Given the description of an element on the screen output the (x, y) to click on. 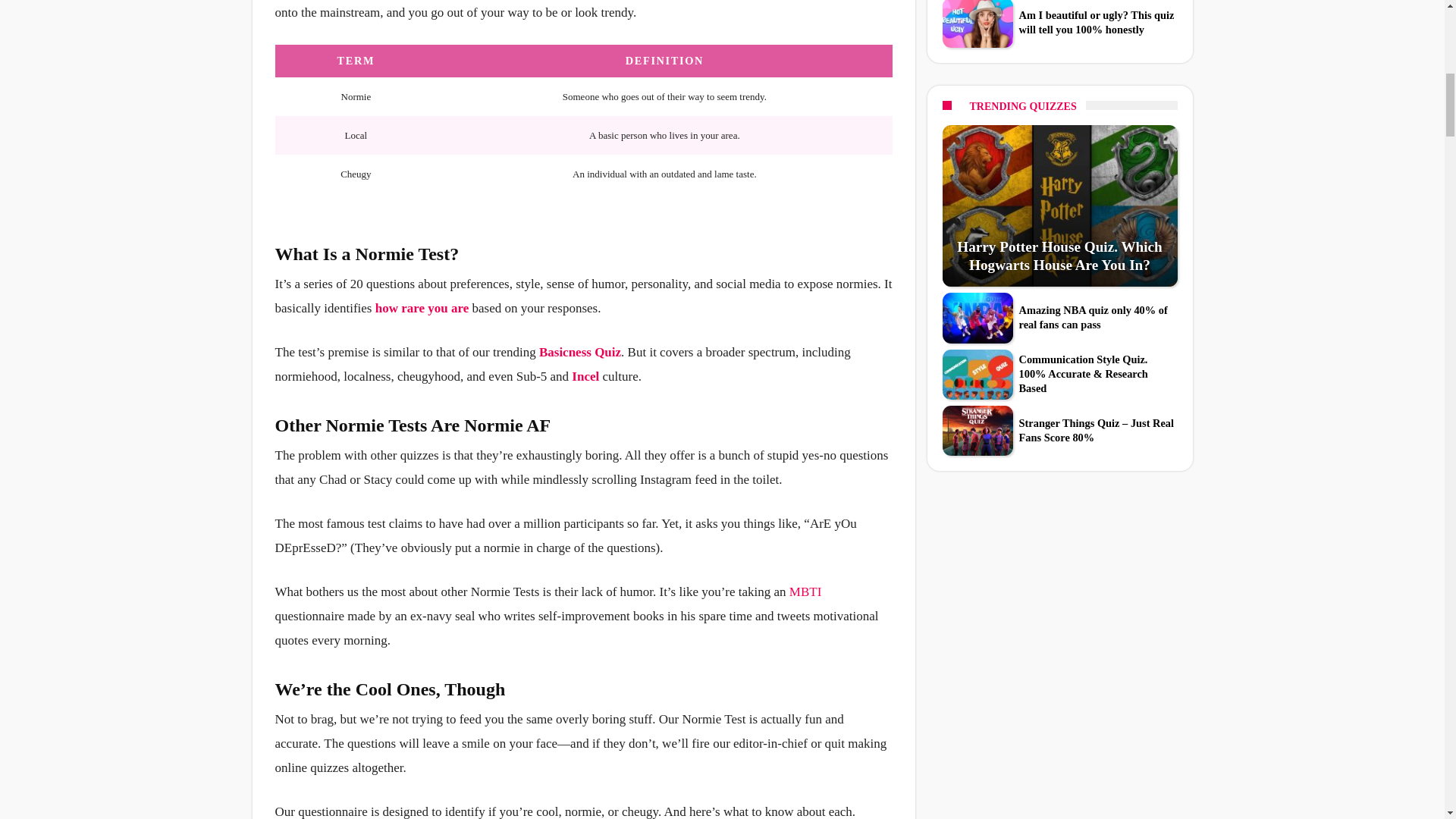
Harry Potter House Quiz. Which Hogwarts House Are You In? (1059, 256)
how rare you are (421, 308)
Basicness Quiz (579, 351)
MBTI (805, 591)
Incel (587, 376)
